Given the description of an element on the screen output the (x, y) to click on. 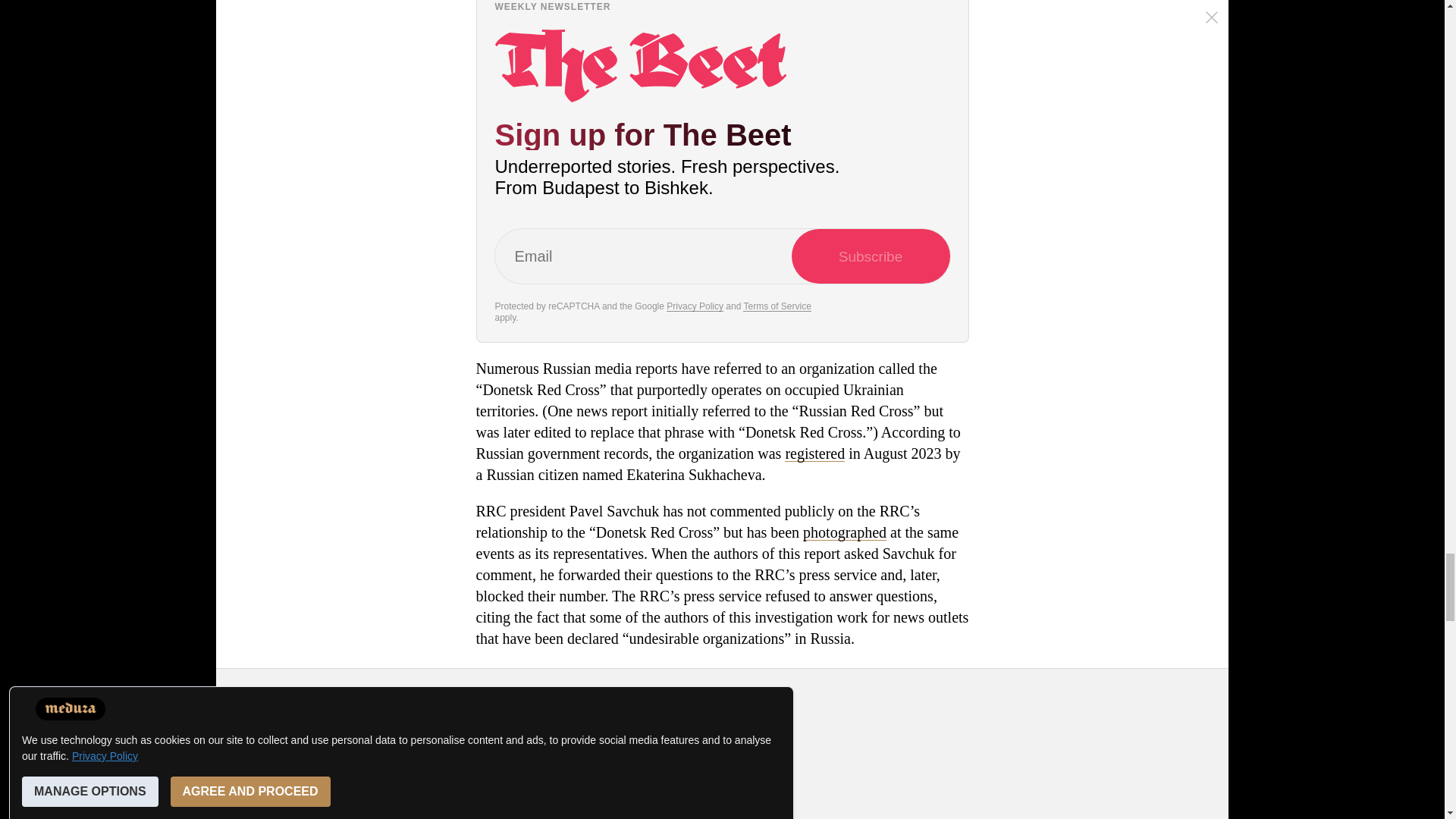
3rd party ad content (722, 753)
